Given the description of an element on the screen output the (x, y) to click on. 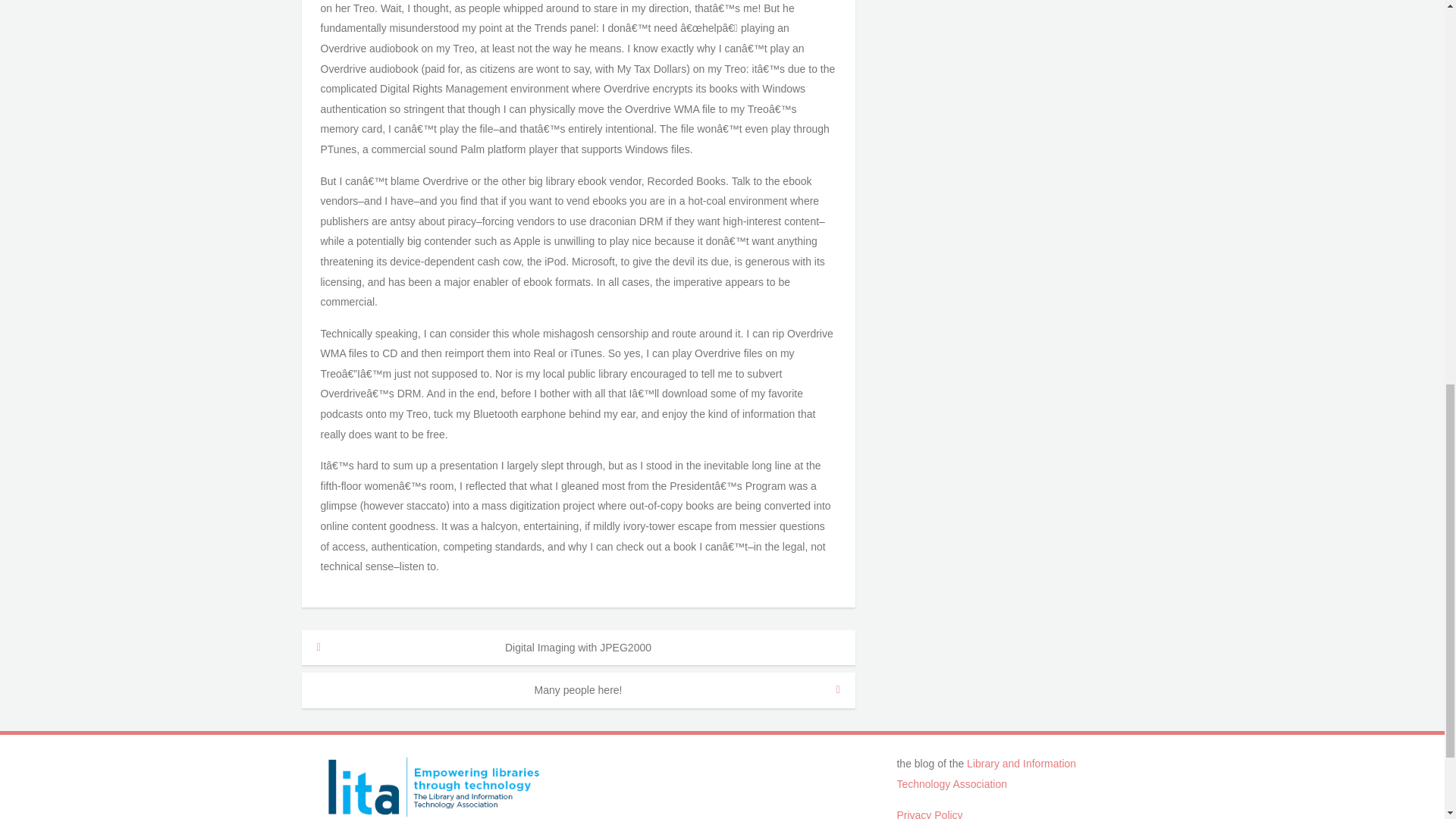
Library and Information Technology Association (985, 773)
Many people here! (578, 690)
Digital Imaging with JPEG2000 (578, 647)
Privacy Policy (929, 814)
